Given the description of an element on the screen output the (x, y) to click on. 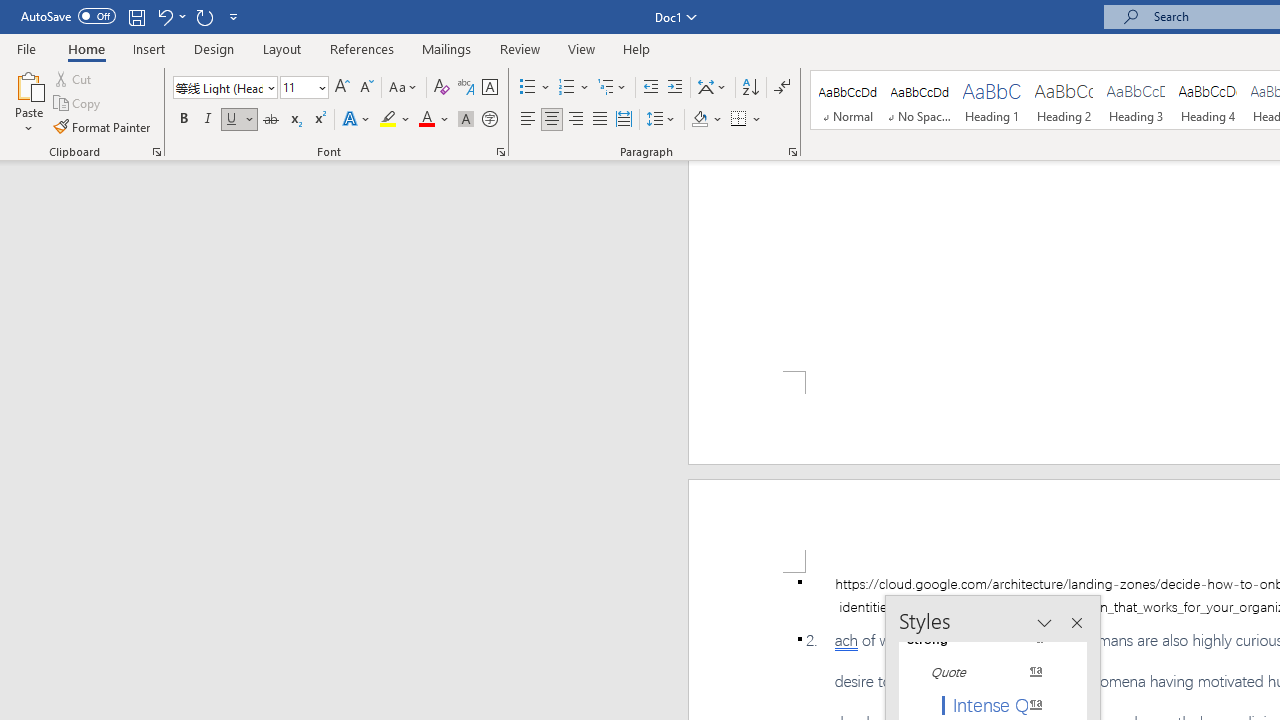
Font... (500, 151)
Close pane (1076, 623)
Repeat Paragraph Alignment (204, 15)
Format Painter (103, 126)
Task Pane Options (1044, 623)
Office Clipboard... (156, 151)
Justify (599, 119)
Save (136, 15)
